Given the description of an element on the screen output the (x, y) to click on. 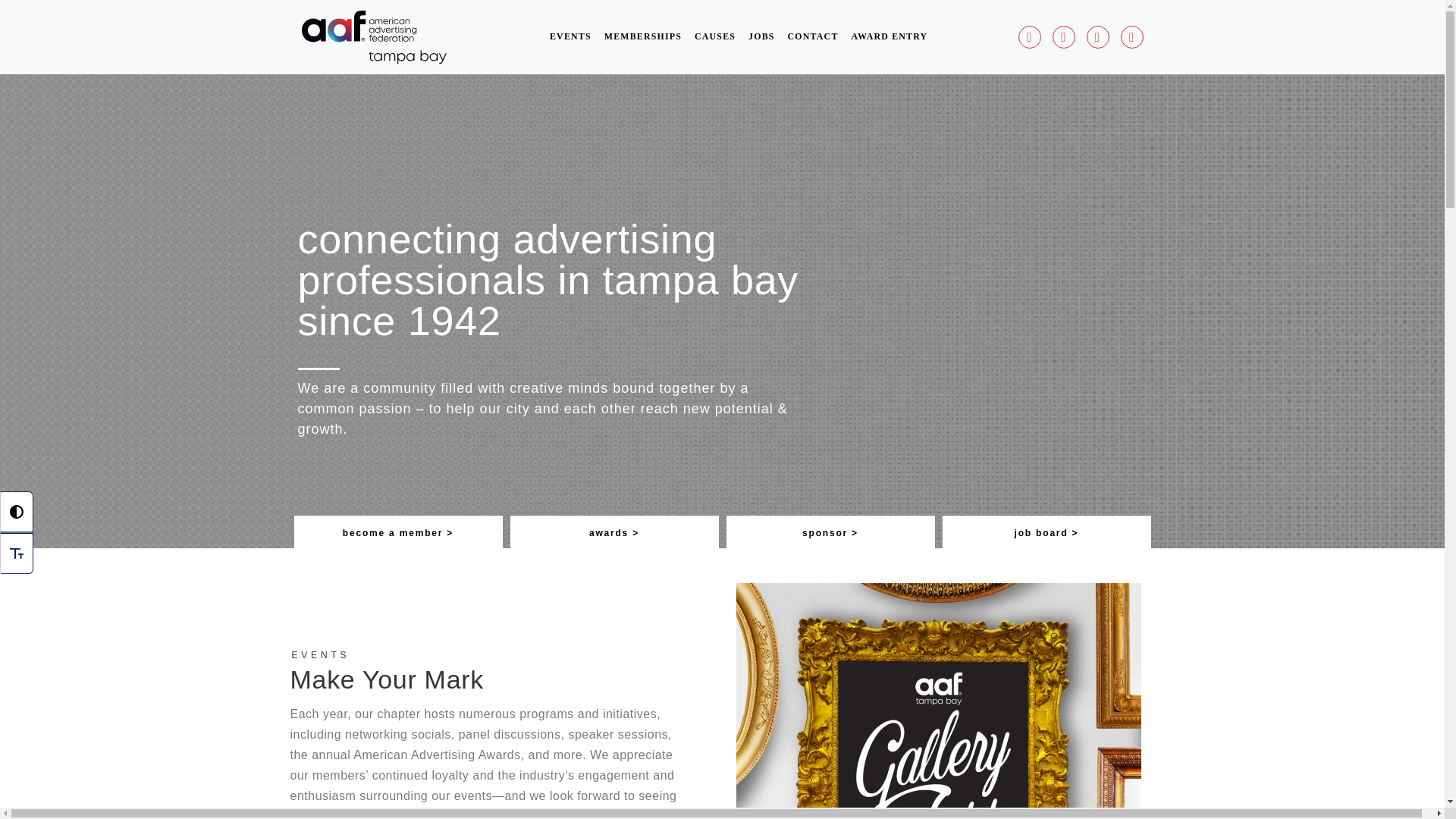
CAUSES (715, 36)
MEMBERSHIPS (641, 36)
JOBS (761, 36)
AWARD ENTRY (889, 36)
EVENTS (569, 36)
CONTACT (812, 36)
Back to American Advertising Federation Home Page (373, 35)
